Given the description of an element on the screen output the (x, y) to click on. 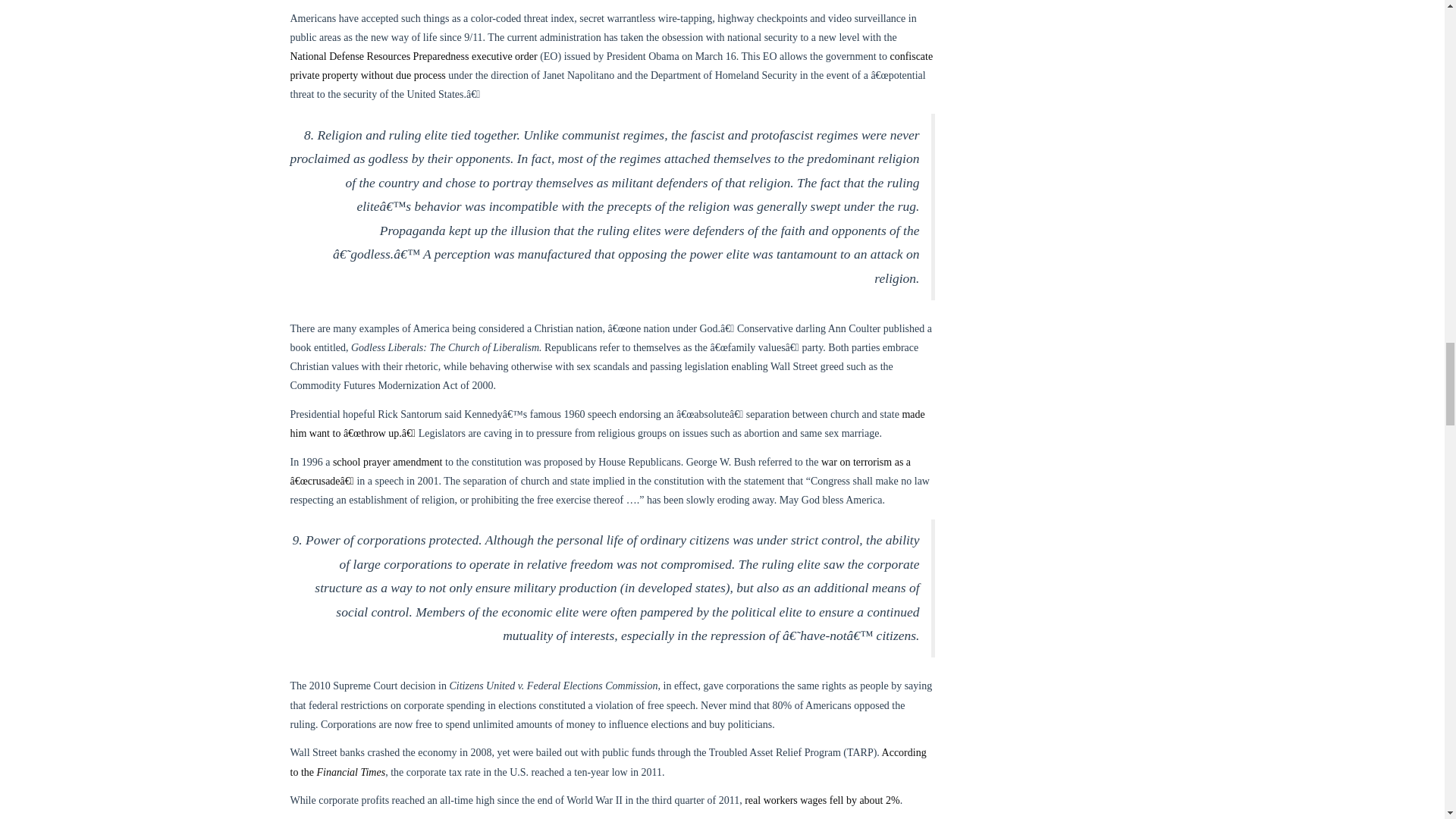
confiscate private property without due process (611, 65)
school prayer amendment (387, 461)
National Defense Resources Preparedness executive order (413, 56)
